Given the description of an element on the screen output the (x, y) to click on. 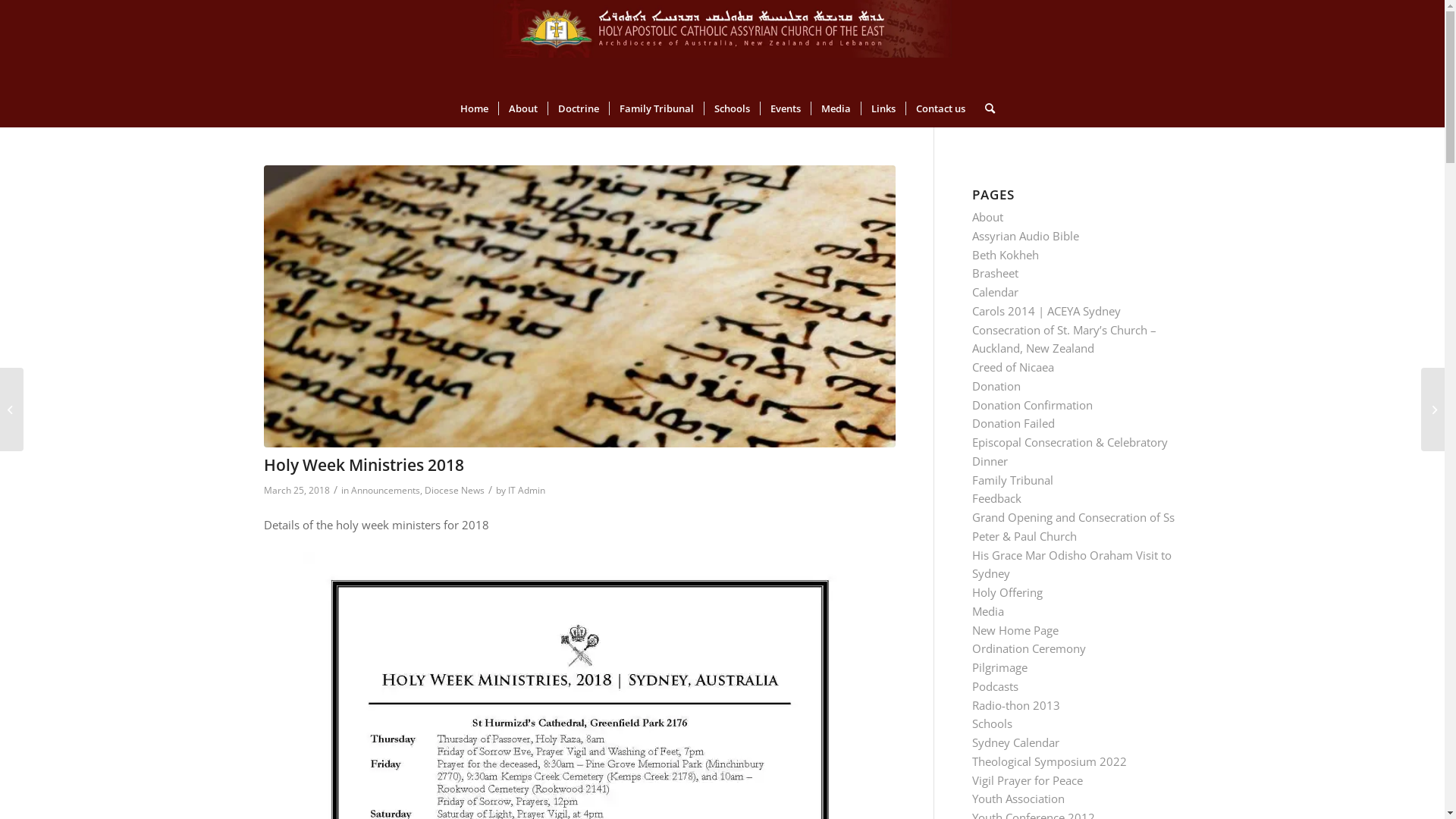
Beth Kokheh Element type: text (1005, 254)
About Element type: text (987, 216)
Theological Symposium 2022 Element type: text (1049, 760)
Family Tribunal Element type: text (655, 108)
Vigil Prayer for Peace Element type: text (1027, 779)
Grand Opening and Consecration of Ss Peter & Paul Church Element type: text (1073, 526)
New Home Page Element type: text (1015, 629)
Assyrian Audio Bible Element type: text (1025, 235)
Announcements Element type: text (384, 489)
Radio-thon 2013 Element type: text (1016, 704)
d1d5ea7f5dc2376f98bb651c7e66b1d5 Element type: hover (579, 306)
Pilgrimage Element type: text (999, 666)
Contact us Element type: text (940, 108)
IT Admin Element type: text (526, 489)
Doctrine Element type: text (577, 108)
Donation Confirmation Element type: text (1032, 404)
Holy Offering Element type: text (1007, 591)
Media Element type: text (834, 108)
Home Element type: text (474, 108)
Donation Element type: text (996, 385)
His Grace Mar Odisho Oraham Visit to Sydney Element type: text (1071, 564)
Carols 2014 | ACEYA Sydney Element type: text (1046, 310)
Brasheet Element type: text (995, 272)
Sydney Calendar Element type: text (1015, 741)
Family Tribunal Element type: text (1012, 479)
Ordination Ceremony Element type: text (1028, 647)
Donation Failed Element type: text (1013, 422)
Links Element type: text (881, 108)
Calendar Element type: text (995, 291)
Episcopal Consecration & Celebratory Dinner Element type: text (1069, 451)
Diocese News Element type: text (454, 489)
Events Element type: text (784, 108)
Media Element type: text (988, 610)
About Element type: text (521, 108)
Schools Element type: text (731, 108)
Creed of Nicaea Element type: text (1013, 366)
Feedback Element type: text (996, 497)
Youth Association Element type: text (1018, 798)
Header_writ Element type: hover (721, 28)
Podcasts Element type: text (995, 685)
Schools Element type: text (992, 723)
